Given the description of an element on the screen output the (x, y) to click on. 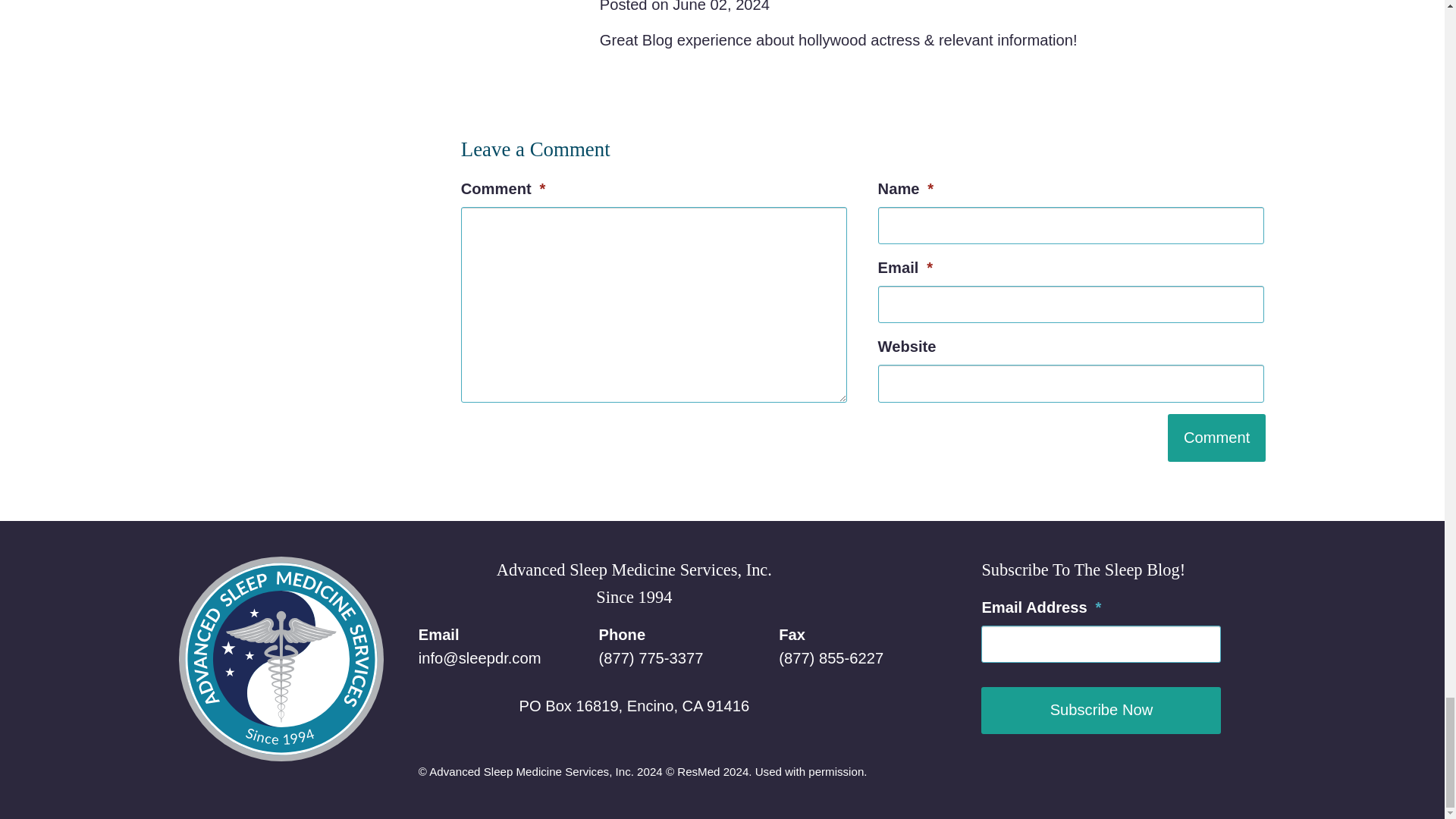
Subscribe Now (1101, 710)
Advanced Sleep Medicine Services, Inc. (281, 658)
Comment (1216, 437)
